Given the description of an element on the screen output the (x, y) to click on. 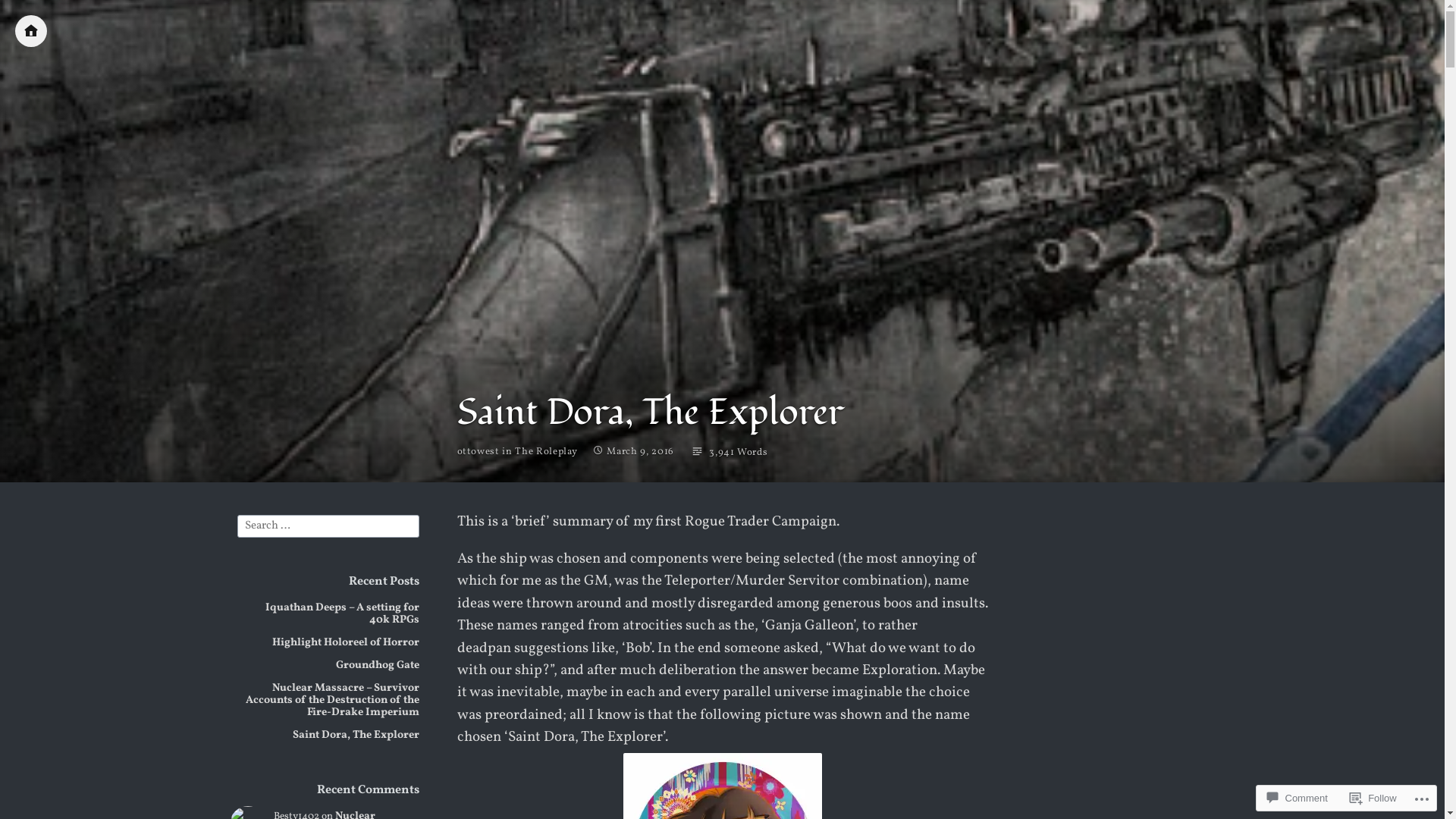
Groundhog Gate Element type: text (376, 664)
Home Element type: hover (31, 31)
ottowest Element type: text (477, 452)
Saint Dora, The Explorer Element type: text (355, 734)
The Roleplay Element type: text (545, 452)
Comment Element type: text (1296, 797)
Highlight Holoreel of Horror Element type: text (344, 641)
Search Element type: text (28, 14)
Follow Element type: text (1372, 797)
